Given the description of an element on the screen output the (x, y) to click on. 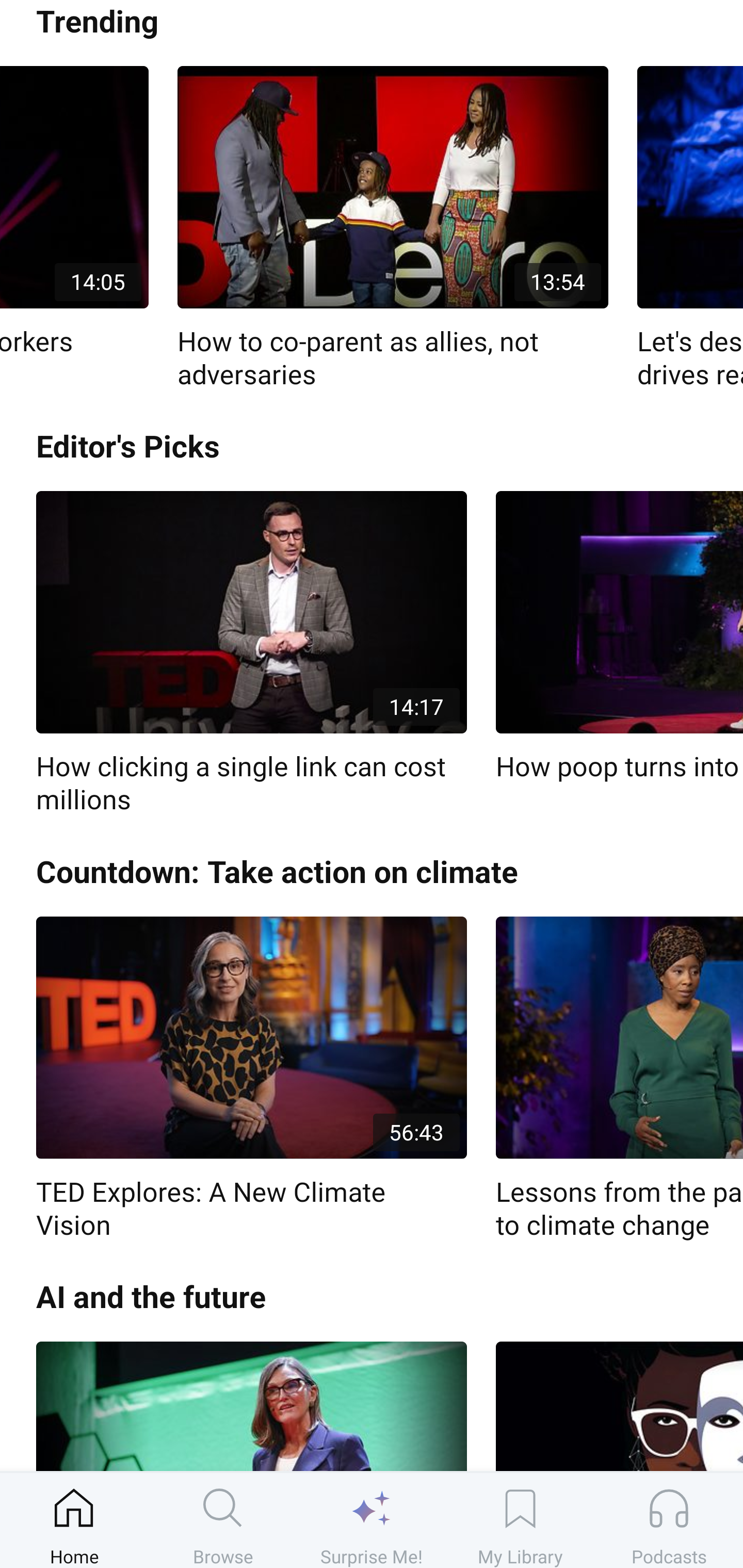
13:54 How to co-parent as allies, not adversaries (392, 228)
14:17 How clicking a single link can cost millions (251, 653)
56:43 TED Explores: A New Climate Vision (251, 1079)
Home (74, 1520)
Browse (222, 1520)
Surprise Me! (371, 1520)
My Library (519, 1520)
Podcasts (668, 1520)
